Given the description of an element on the screen output the (x, y) to click on. 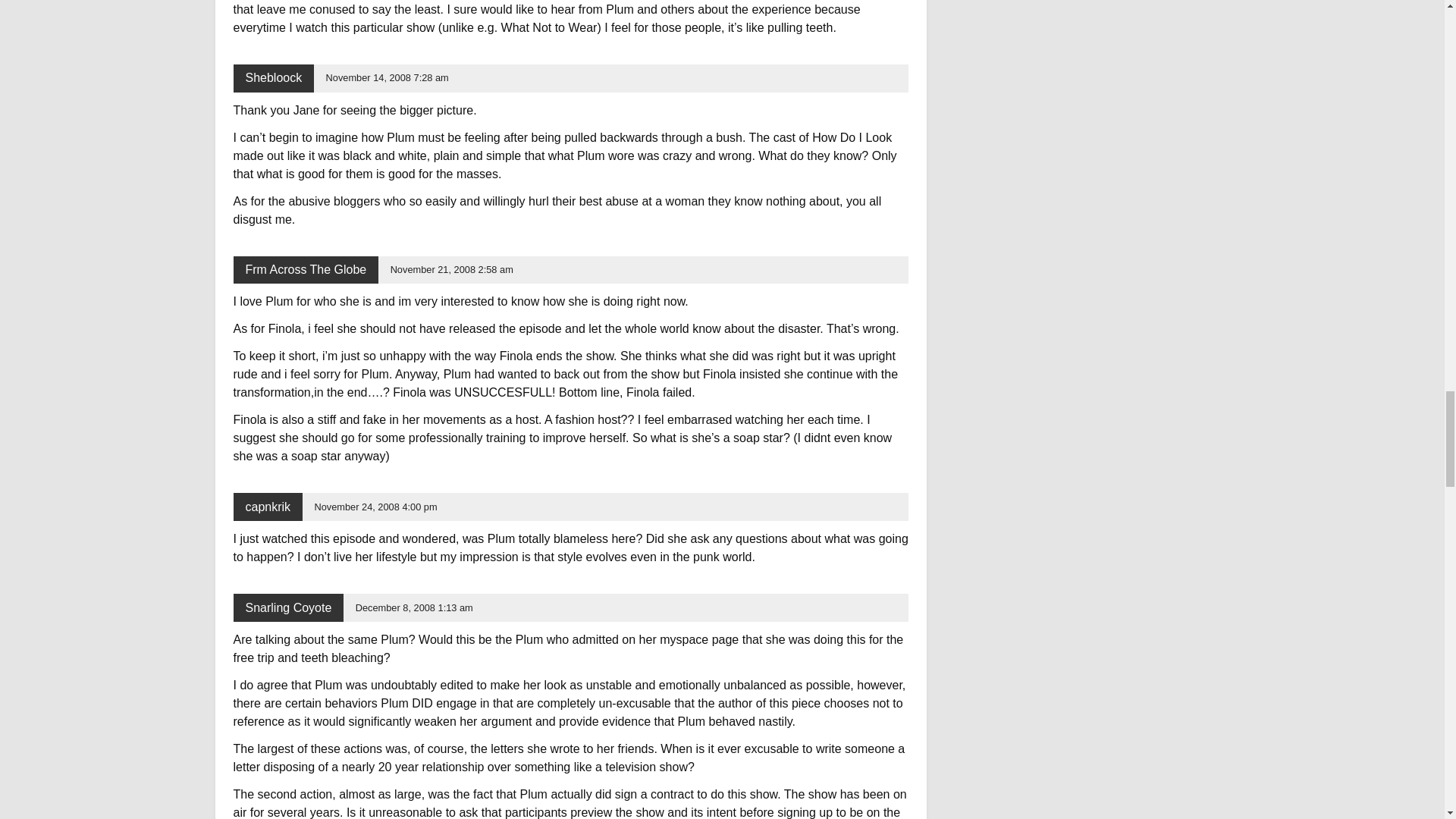
November 21, 2008 2:58 am (451, 269)
November 14, 2008 7:28 am (387, 77)
November 24, 2008 4:00 pm (375, 506)
December 8, 2008 1:13 am (414, 607)
